Given the description of an element on the screen output the (x, y) to click on. 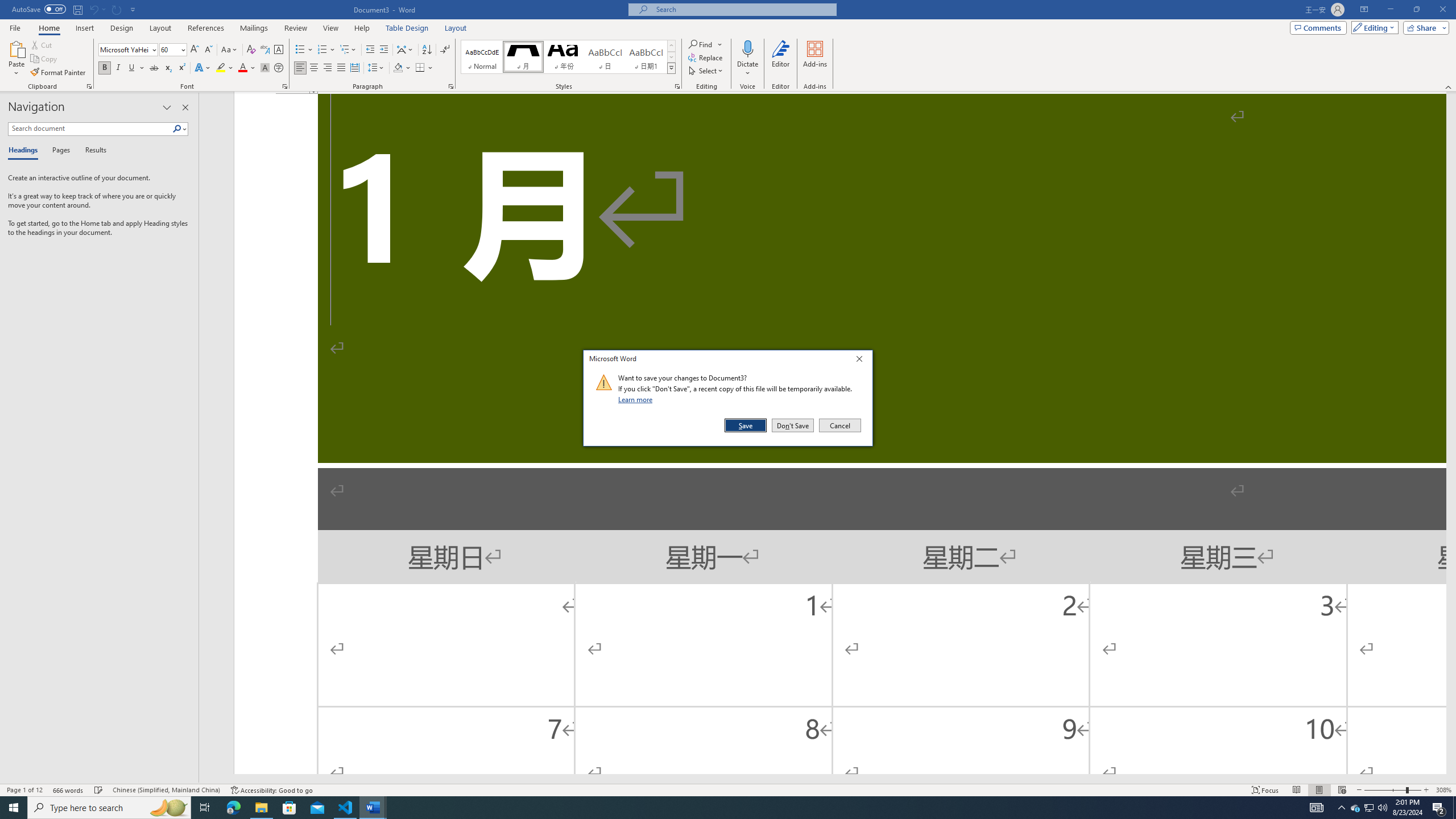
System (6, 6)
AutomationID: QuickStylesGallery (568, 56)
Line and Paragraph Spacing (376, 67)
Mailings (253, 28)
More Options (747, 68)
Sort... (426, 49)
Underline (136, 67)
Can't Repeat (117, 9)
Find (705, 44)
Can't Undo (96, 9)
Font Color RGB(255, 0, 0) (241, 67)
Task View (204, 807)
Styles (670, 67)
